Given the description of an element on the screen output the (x, y) to click on. 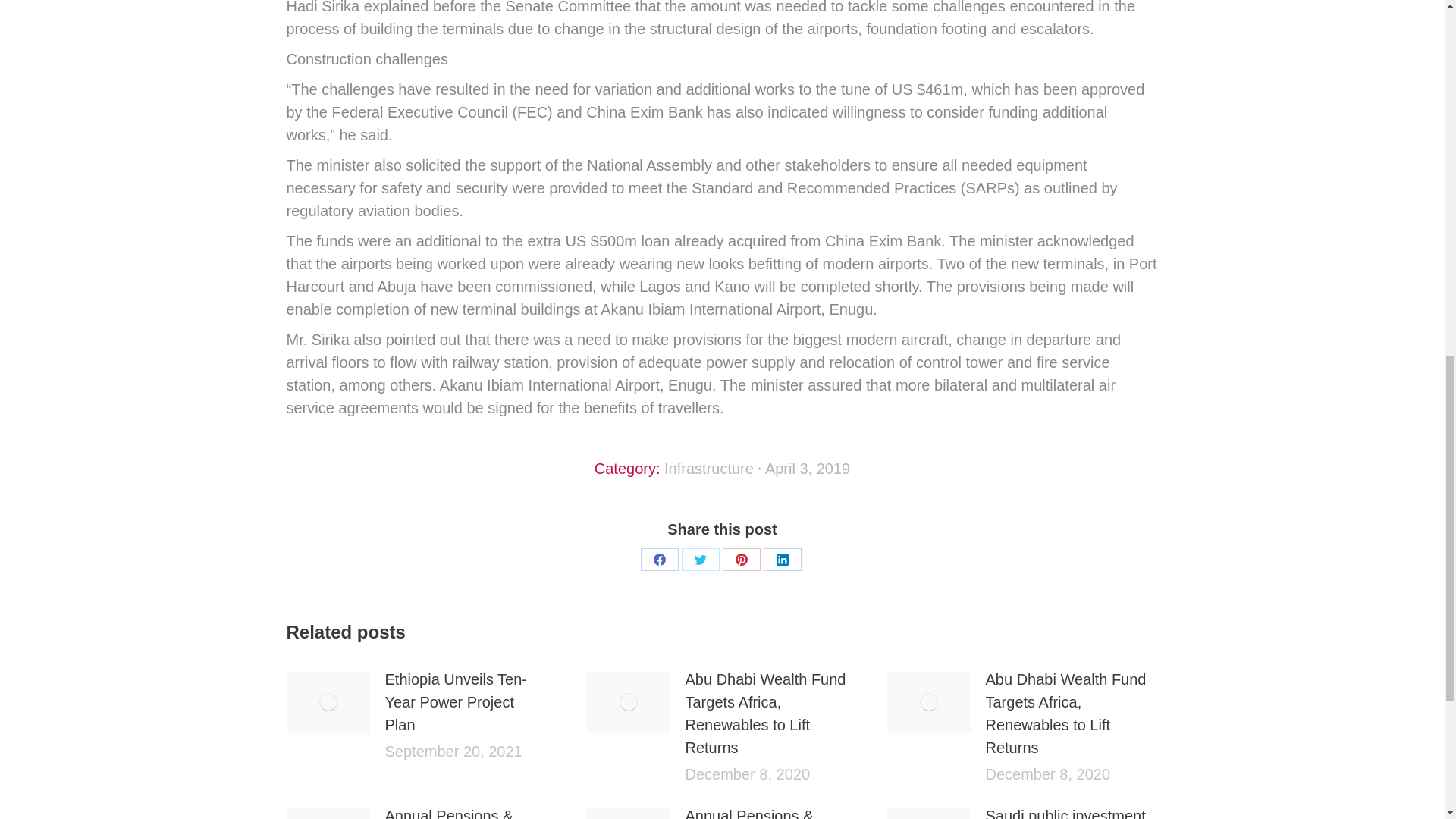
Twitter (700, 558)
Facebook (659, 558)
9:12 am (807, 468)
